Given the description of an element on the screen output the (x, y) to click on. 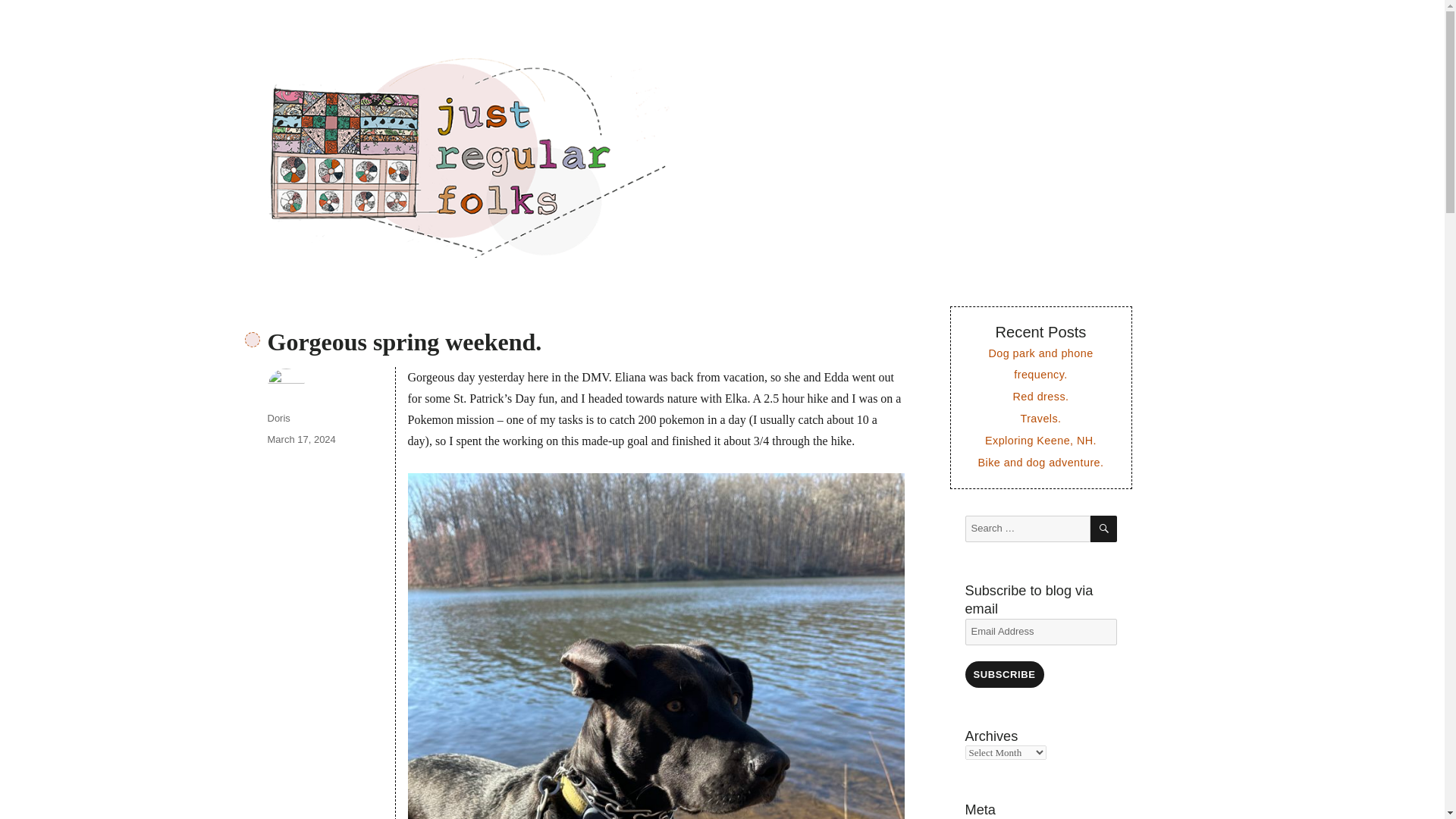
March 17, 2024 (300, 439)
Red dress. (1040, 396)
Dog park and phone frequency. (1040, 364)
Bike and dog adventure. (1040, 462)
SEARCH (1103, 528)
Just regular folks. (357, 50)
SUBSCRIBE (1003, 673)
Doris (277, 418)
Exploring Keene, NH. (1040, 440)
Travels. (1040, 418)
